Given the description of an element on the screen output the (x, y) to click on. 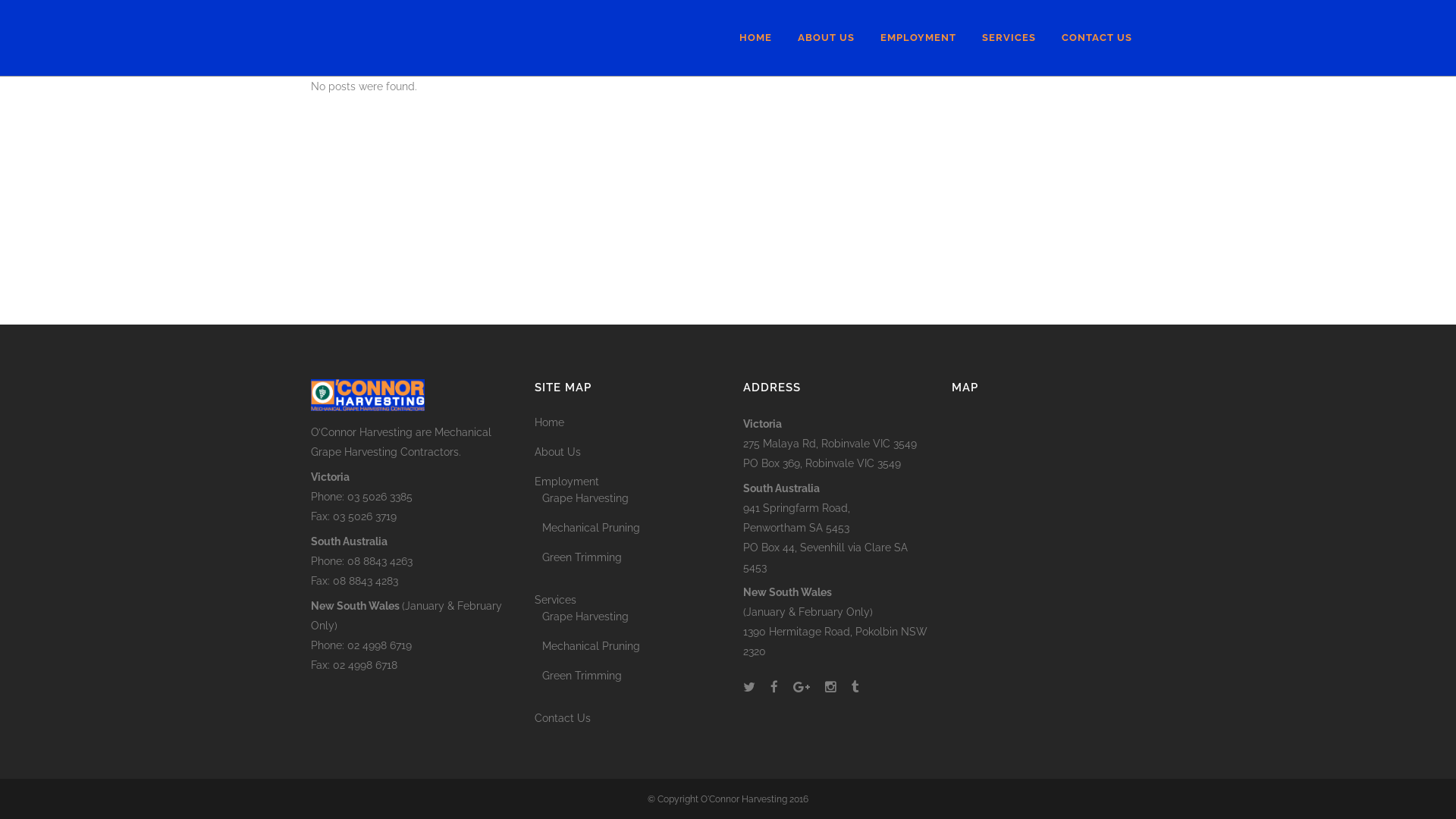
Analytics powered by GoStats Element type: text (75, 600)
EMPLOYMENT Element type: text (918, 37)
Employment Element type: text (627, 481)
Green Trimming Element type: text (631, 557)
Mechanical Pruning Element type: text (631, 527)
Contact Us Element type: text (627, 717)
Mechanical Pruning Element type: text (631, 645)
CONTACT US Element type: text (1096, 37)
ABOUT US Element type: text (825, 37)
HOME Element type: text (755, 37)
Green Trimming Element type: text (631, 675)
Grape Harvesting Element type: text (631, 616)
Home Element type: text (627, 422)
About Us Element type: text (627, 451)
Services Element type: text (627, 599)
SERVICES Element type: text (1008, 37)
Grape Harvesting Element type: text (631, 497)
